Given the description of an element on the screen output the (x, y) to click on. 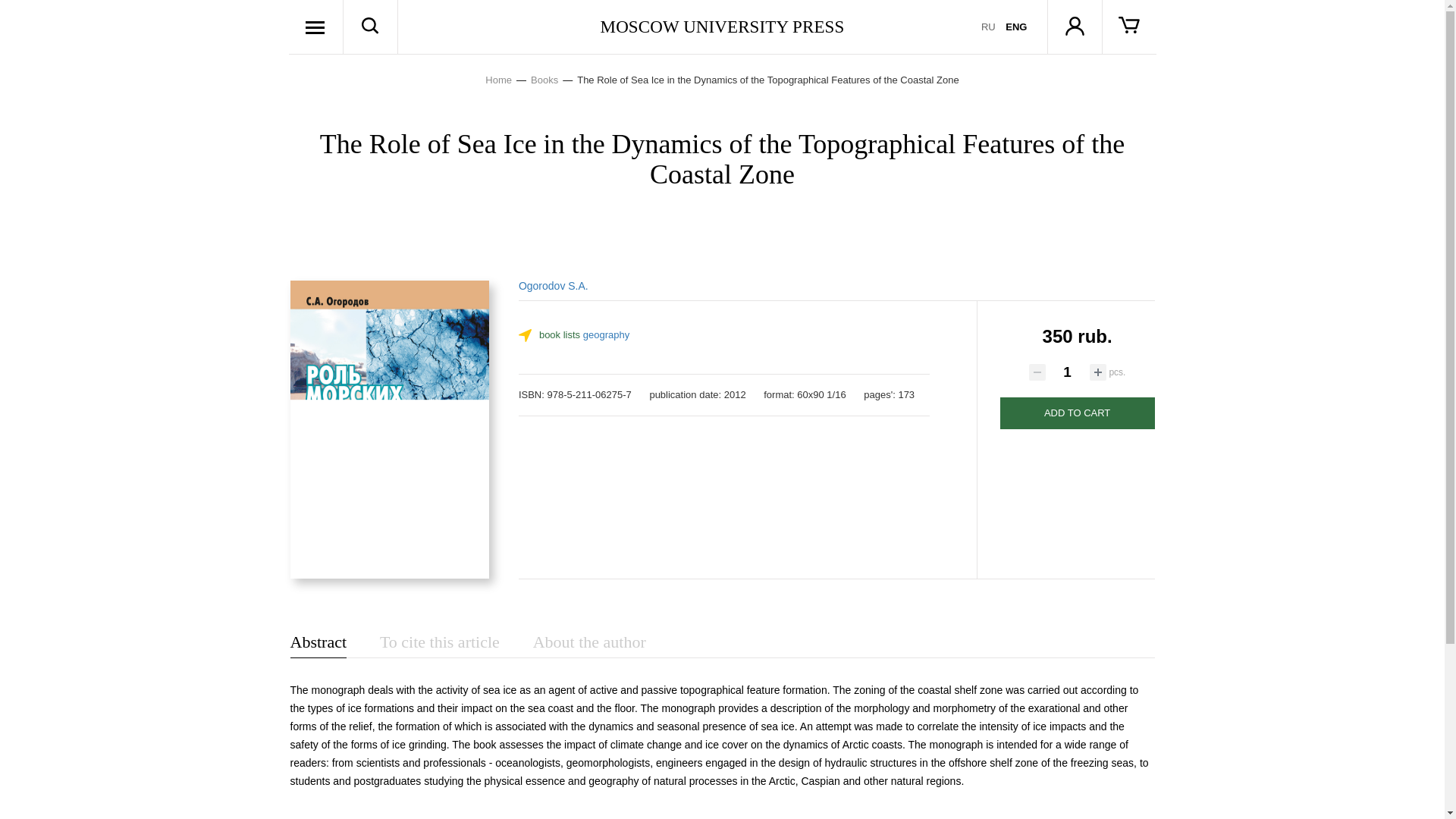
Books (553, 79)
1 (1067, 371)
Home (507, 79)
geography (605, 334)
RU (988, 26)
MOSCOW UNIVERSITY PRESS (721, 26)
ADD TO CART (1077, 413)
Home (507, 79)
Books (553, 79)
Ogorodov S.A. (553, 285)
